Given the description of an element on the screen output the (x, y) to click on. 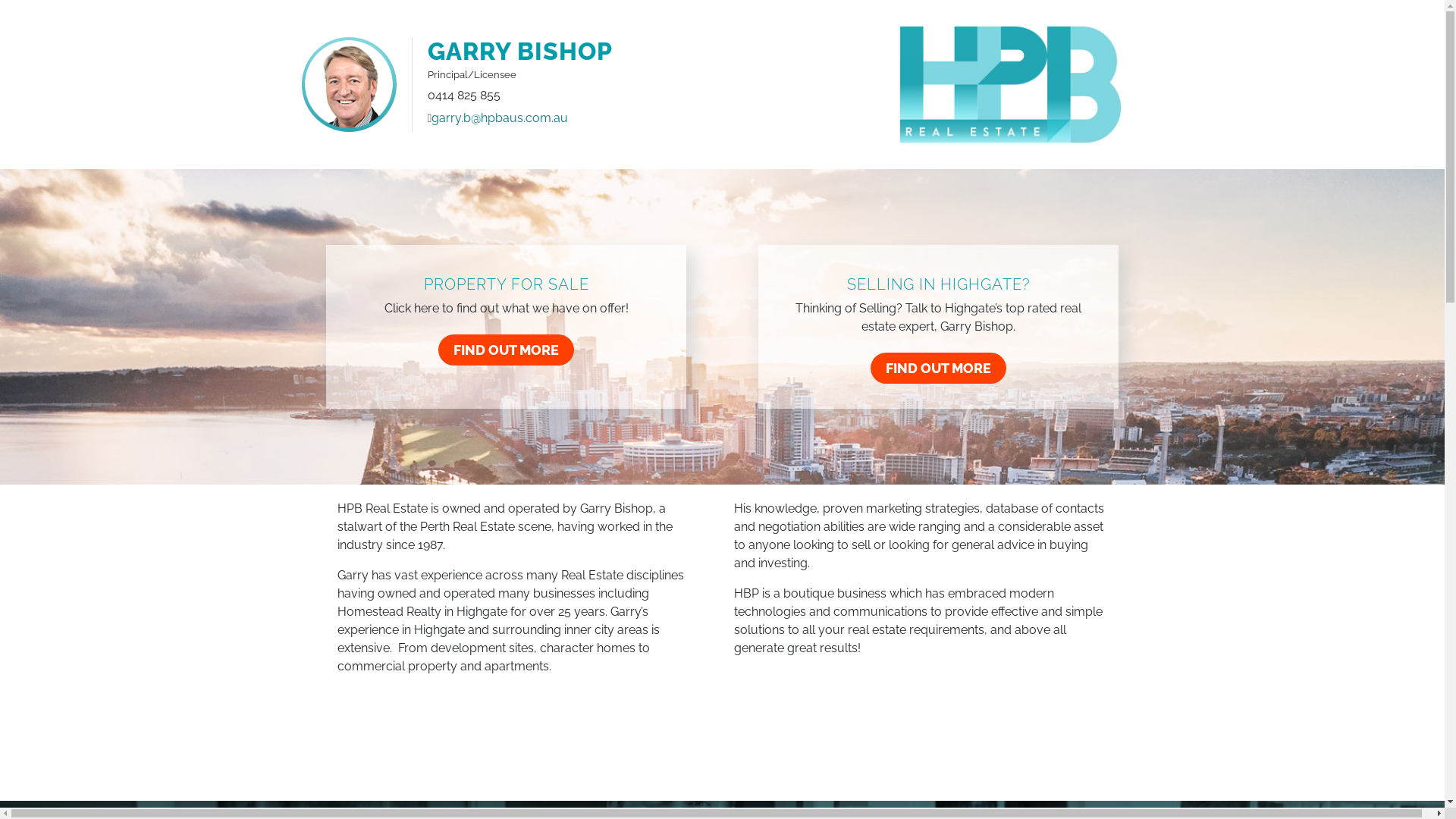
FIND OUT MORE Element type: text (938, 367)
garry.b@hpbaus.com.au Element type: text (499, 117)
0414 825 855 Element type: text (463, 94)
HPB REAL ESTATE Element type: text (1010, 84)
FIND OUT MORE Element type: text (506, 349)
Skip to content Element type: text (1443, 0)
